Given the description of an element on the screen output the (x, y) to click on. 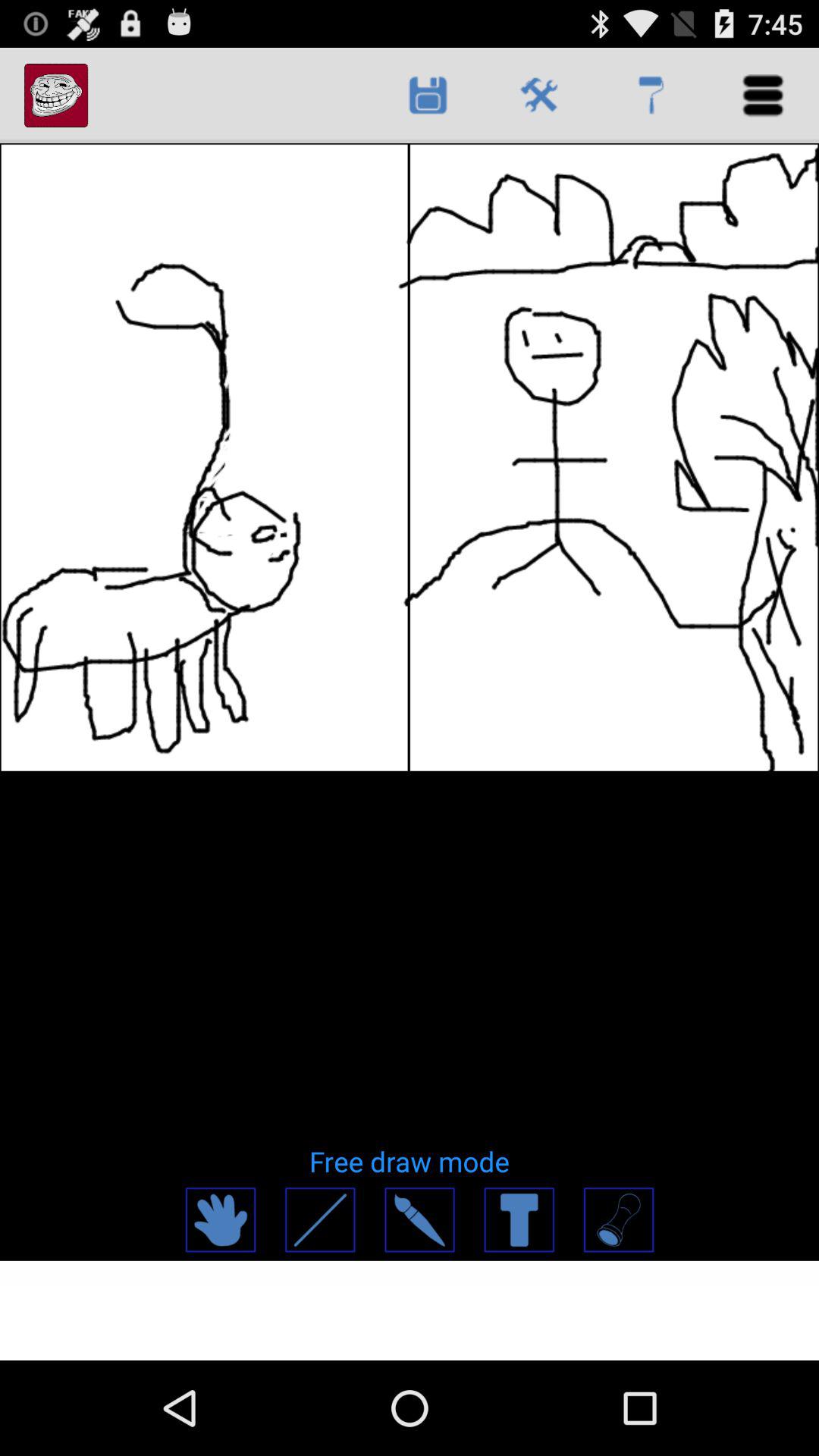
flip to the free draw mode (409, 1161)
